Given the description of an element on the screen output the (x, y) to click on. 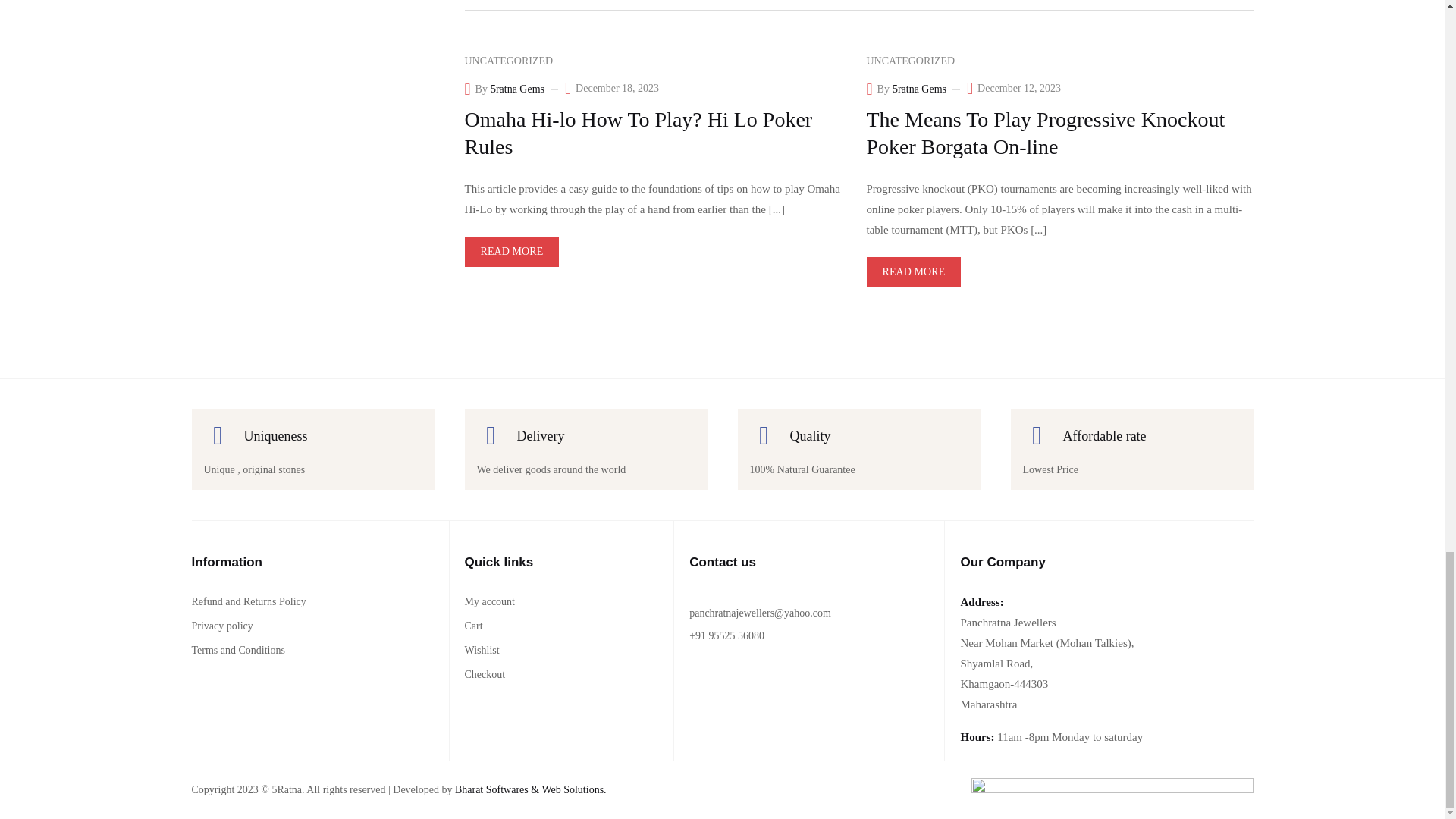
Read more (511, 251)
Posts by 5ratna gems (517, 89)
Posts by 5ratna gems (919, 89)
View all posts in Uncategorized (910, 61)
View all posts in Uncategorized (508, 61)
